Given the description of an element on the screen output the (x, y) to click on. 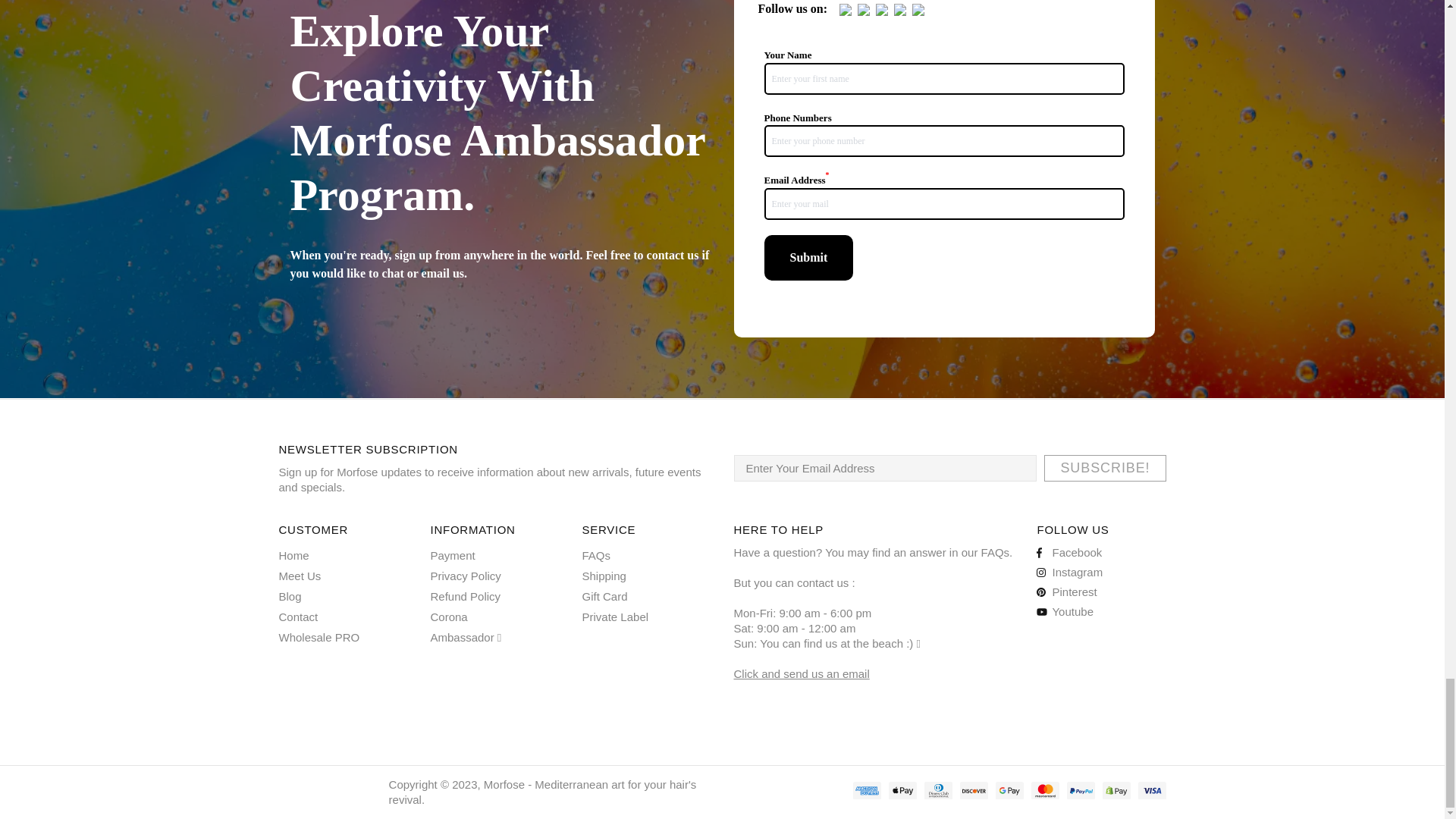
Submit (808, 257)
